Given the description of an element on the screen output the (x, y) to click on. 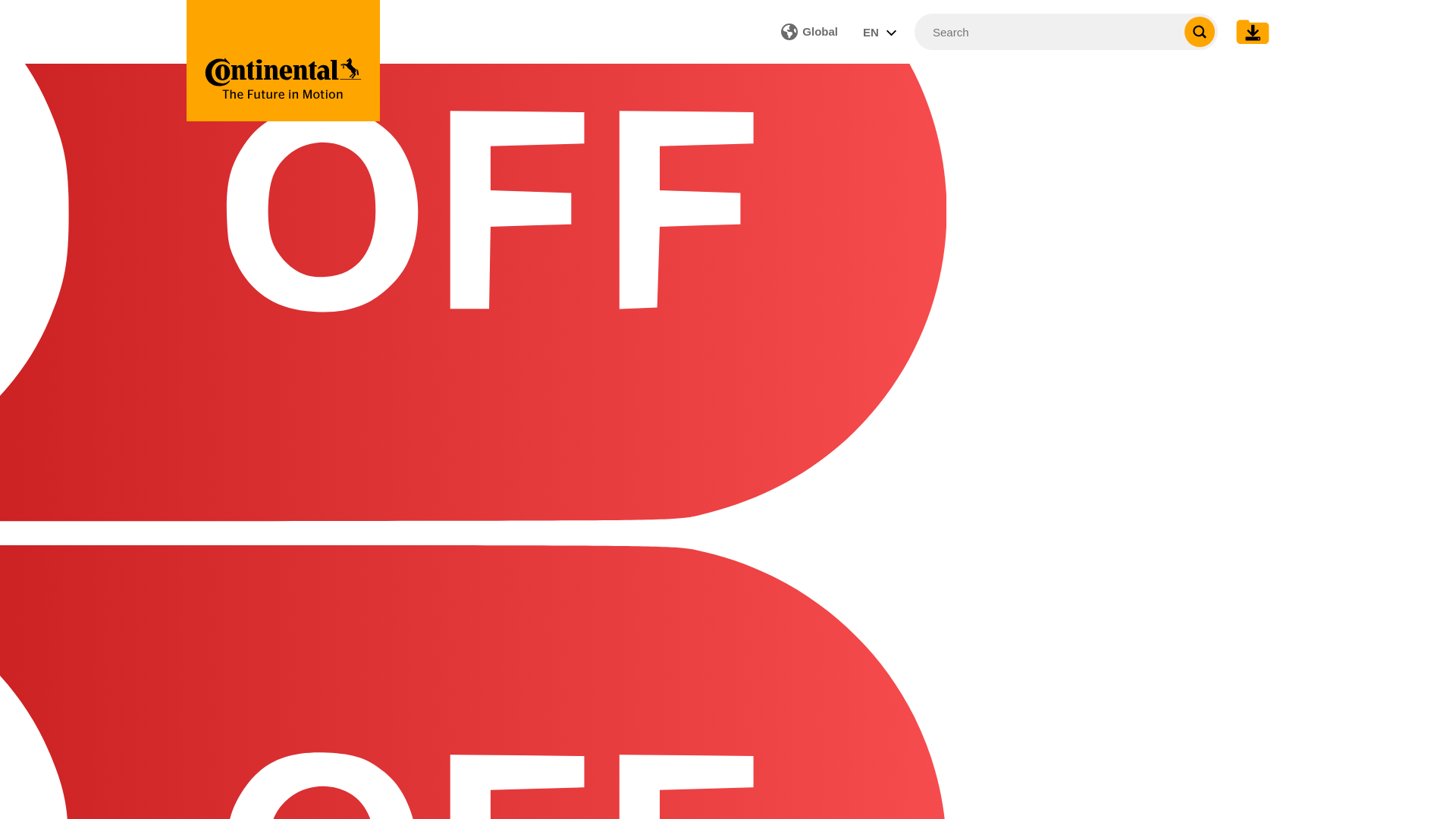
Continental AG (283, 60)
Global (809, 31)
EN (880, 31)
